Given the description of an element on the screen output the (x, y) to click on. 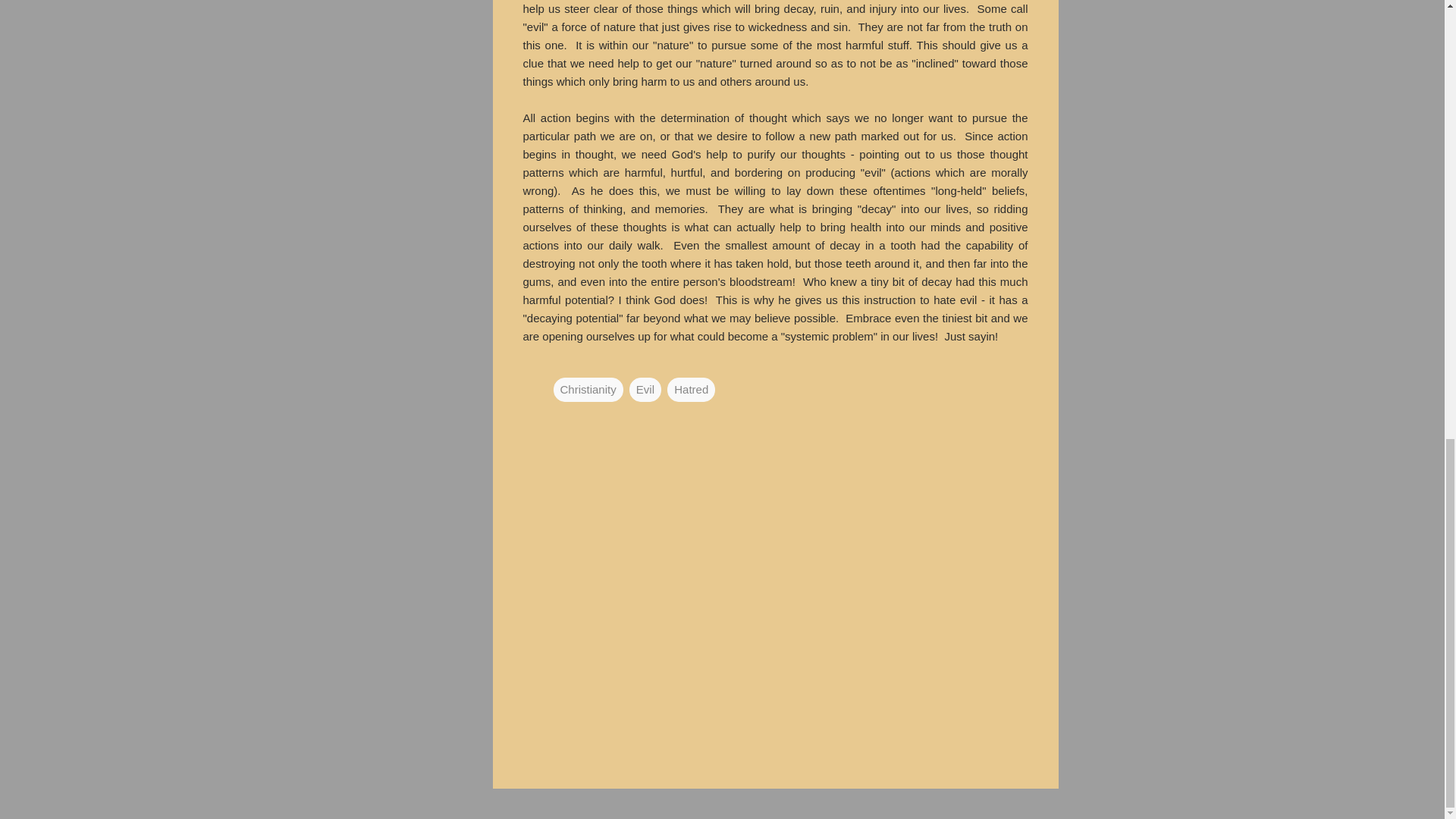
Evil (644, 388)
Advertisement (1118, 33)
Hatred (690, 388)
Christianity (588, 388)
